Given the description of an element on the screen output the (x, y) to click on. 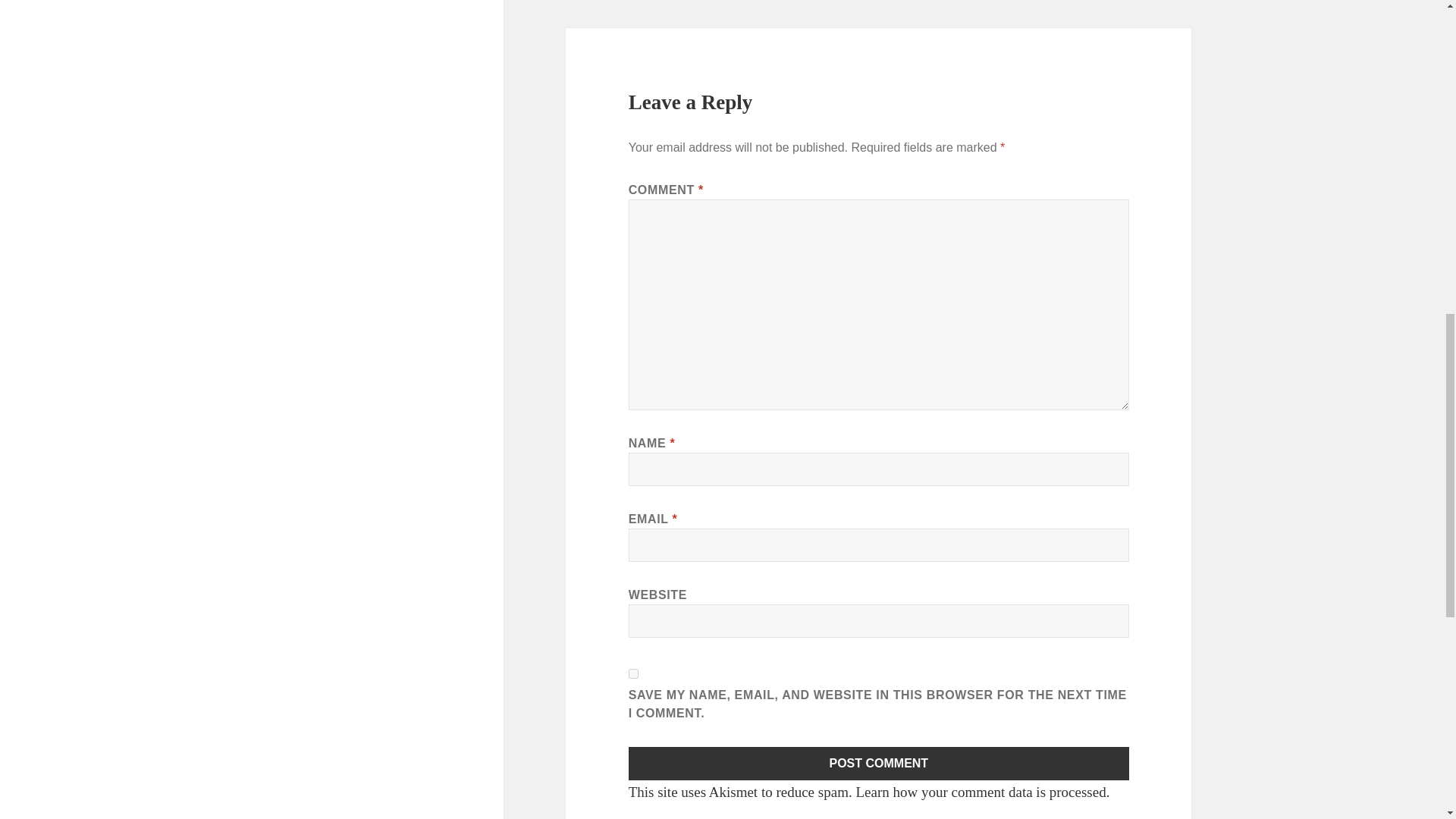
Learn how your comment data is processed (980, 791)
yes (633, 673)
Post Comment (878, 763)
Post Comment (878, 763)
